Given the description of an element on the screen output the (x, y) to click on. 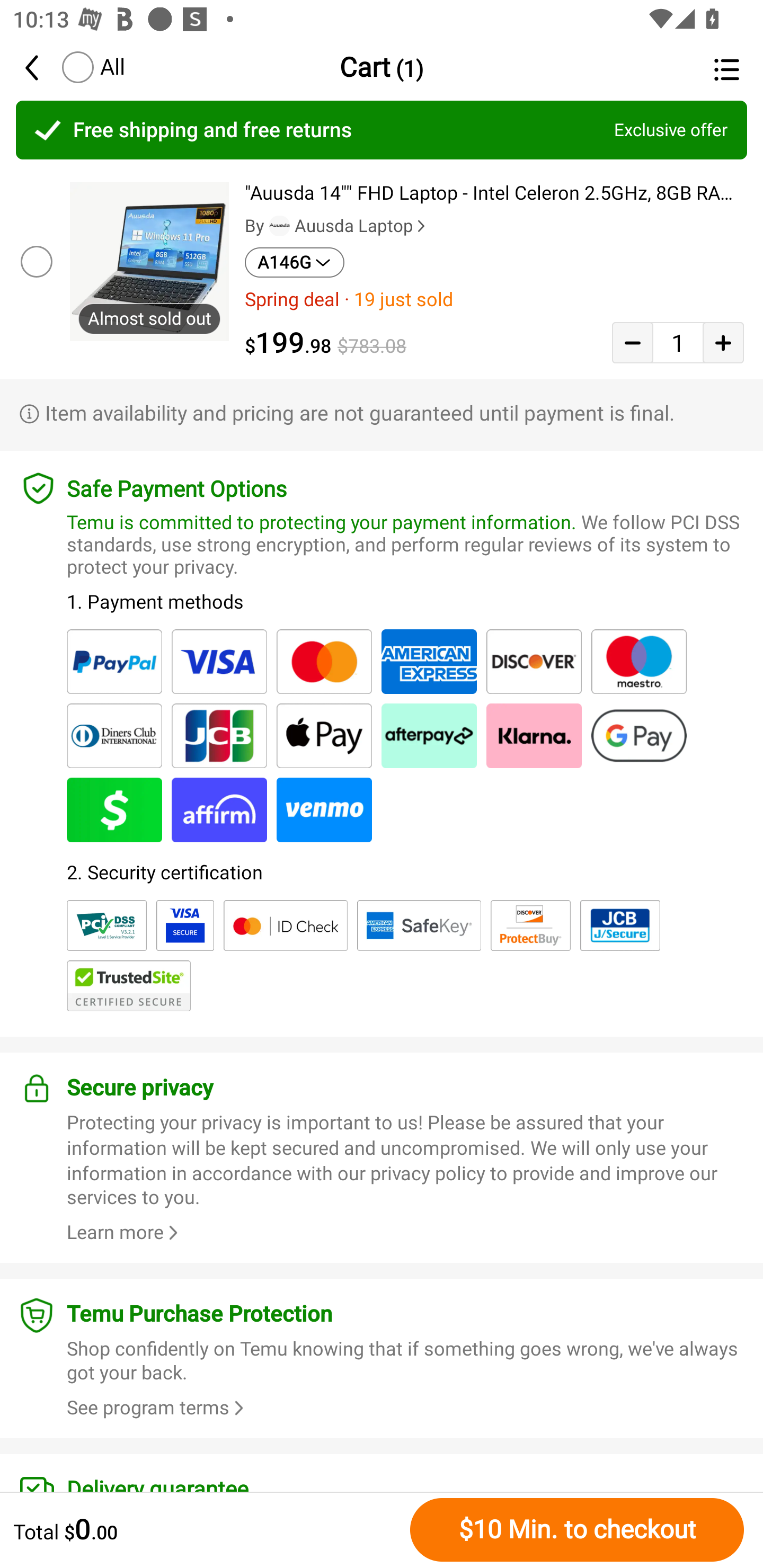
back (41, 67)
Select all tick button All (92, 67)
Free shipping and free returns Exclusive offer (381, 129)
Product checkbox uncheck (35, 260)
By Auusda Laptop (336, 226)
A146G (294, 262)
Decrease quantity button (632, 342)
1 (677, 342)
Add quantity button (722, 342)
Learn more (125, 1232)
See program terms (157, 1408)
Total $0.00 (206, 1529)
Checkout $10 Min. to checkout (576, 1529)
